Given the description of an element on the screen output the (x, y) to click on. 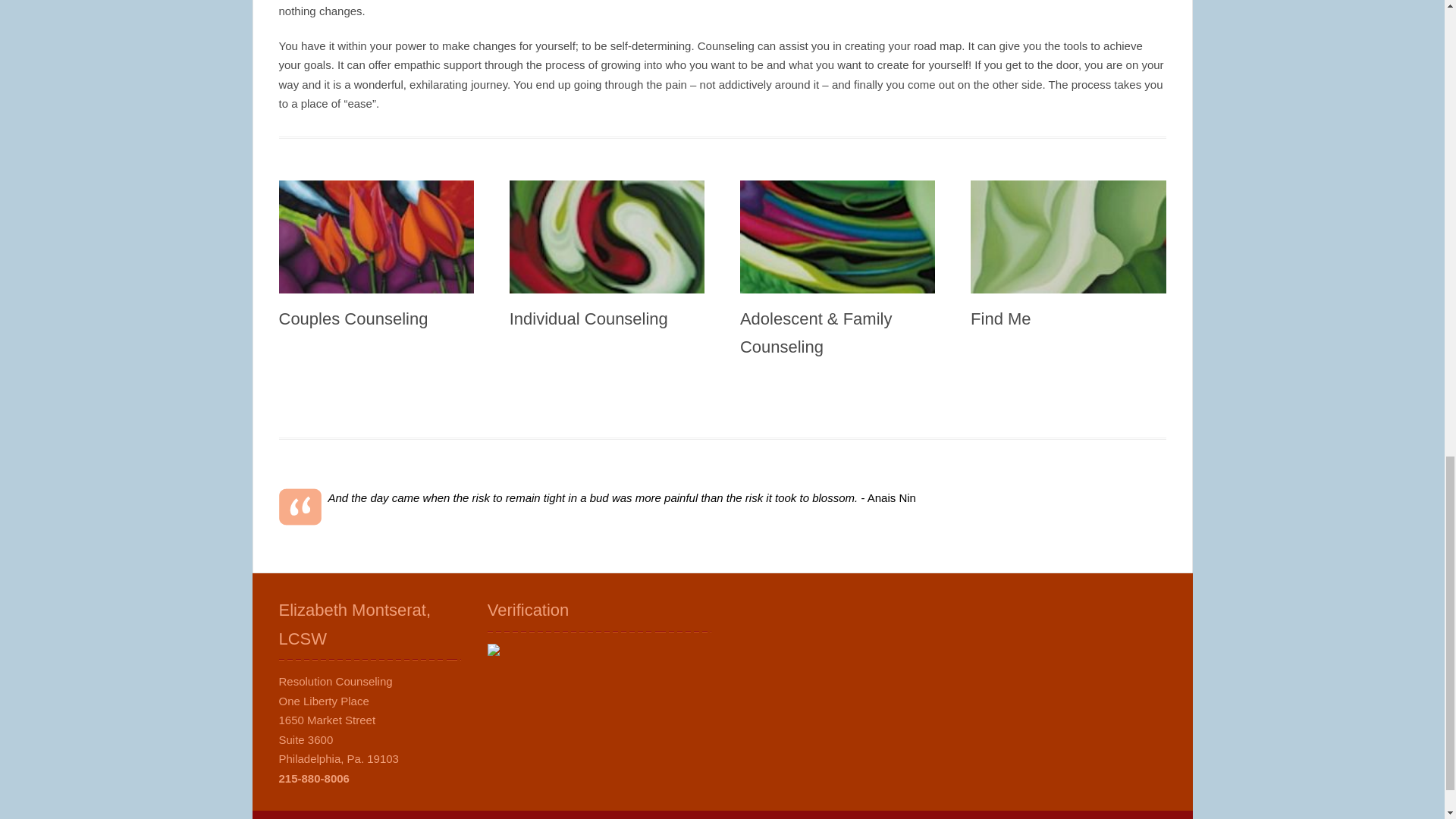
Couples Counseling (353, 318)
Individual Counseling (588, 318)
Find Me (1000, 318)
